Given the description of an element on the screen output the (x, y) to click on. 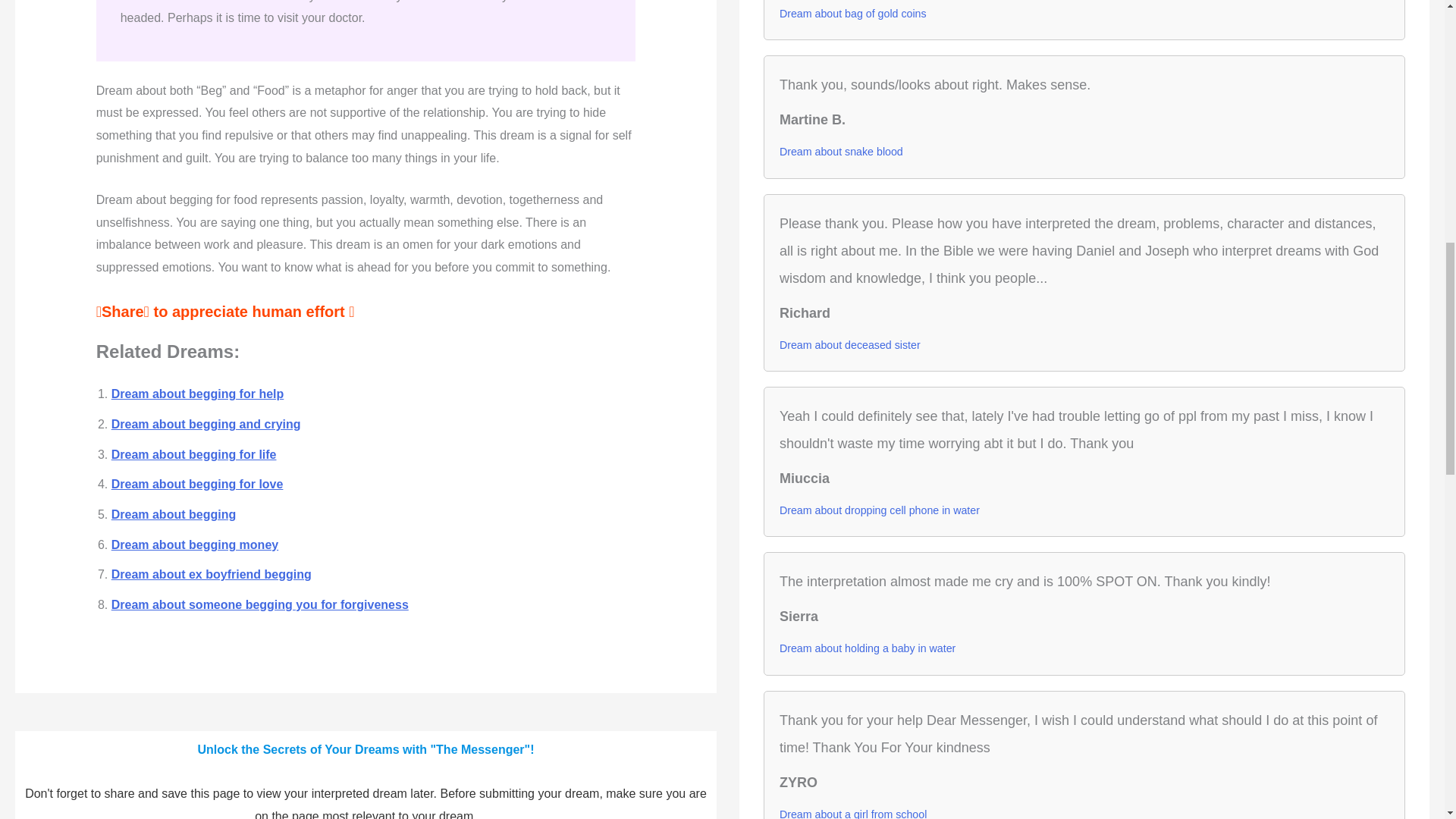
Dream about ex boyfriend begging (211, 574)
Dream about someone begging you for forgiveness (260, 604)
Dream about begging money (195, 544)
Dream about begging (173, 513)
Dream about dropping cell phone in water (878, 509)
Dream about ex boyfriend begging (211, 574)
Dream about snake blood (840, 151)
Dream about bag of gold coins (852, 13)
Dream about someone begging you for forgiveness (260, 604)
Dream about begging for life (194, 454)
Dream about begging for help (197, 393)
Dream about begging for help (197, 393)
Dream about deceased sister (849, 344)
Dream about begging and crying (206, 423)
Dream about holding a baby in water (866, 648)
